Given the description of an element on the screen output the (x, y) to click on. 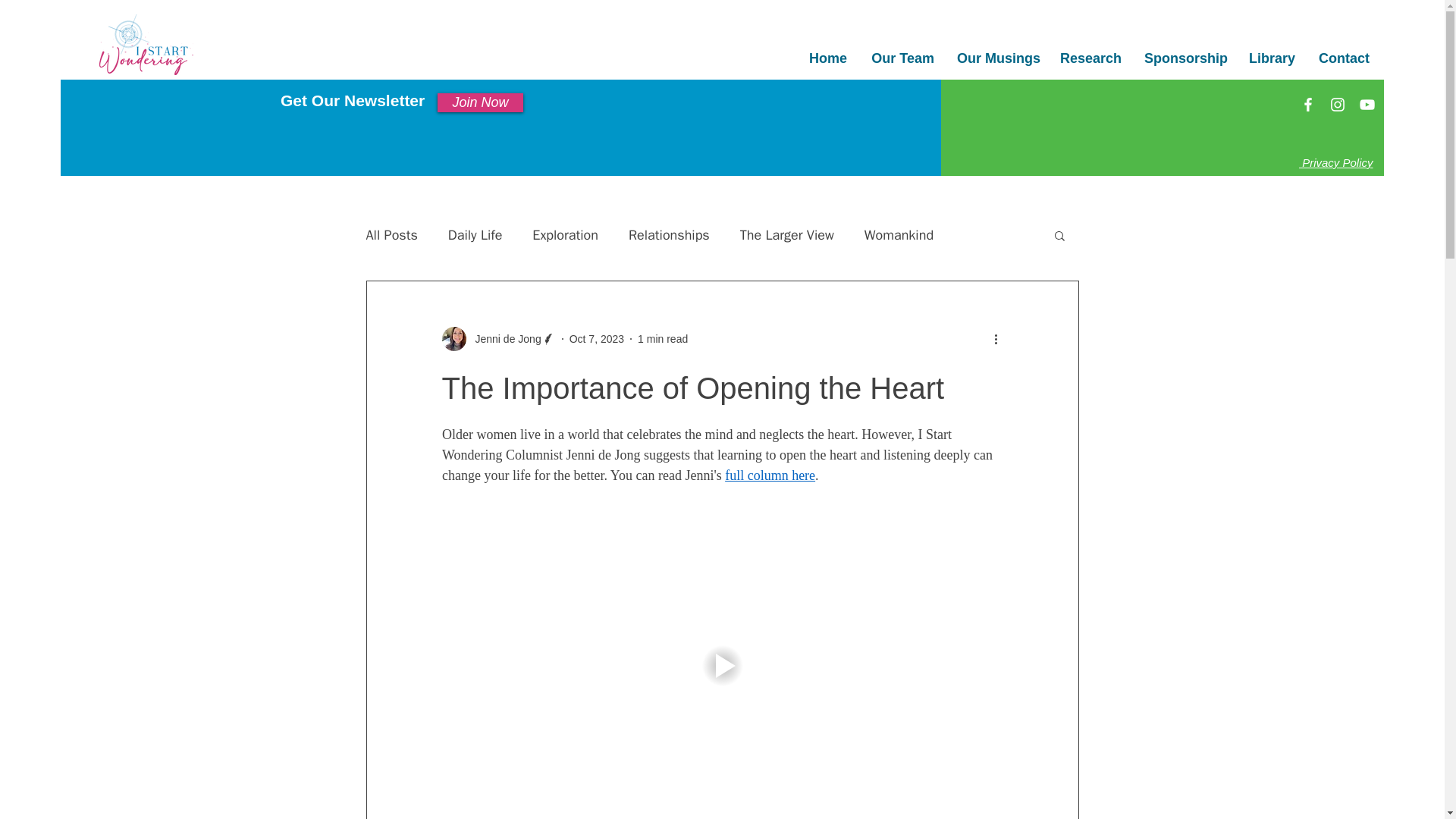
Jenni de Jong (497, 338)
Research (1090, 57)
Our Team (901, 57)
 Privacy Policy (1335, 162)
I-start-wondering logo.png (146, 44)
The Larger View (786, 235)
Daily Life (475, 235)
Home (827, 57)
Womankind (898, 235)
All Posts (390, 235)
